Given the description of an element on the screen output the (x, y) to click on. 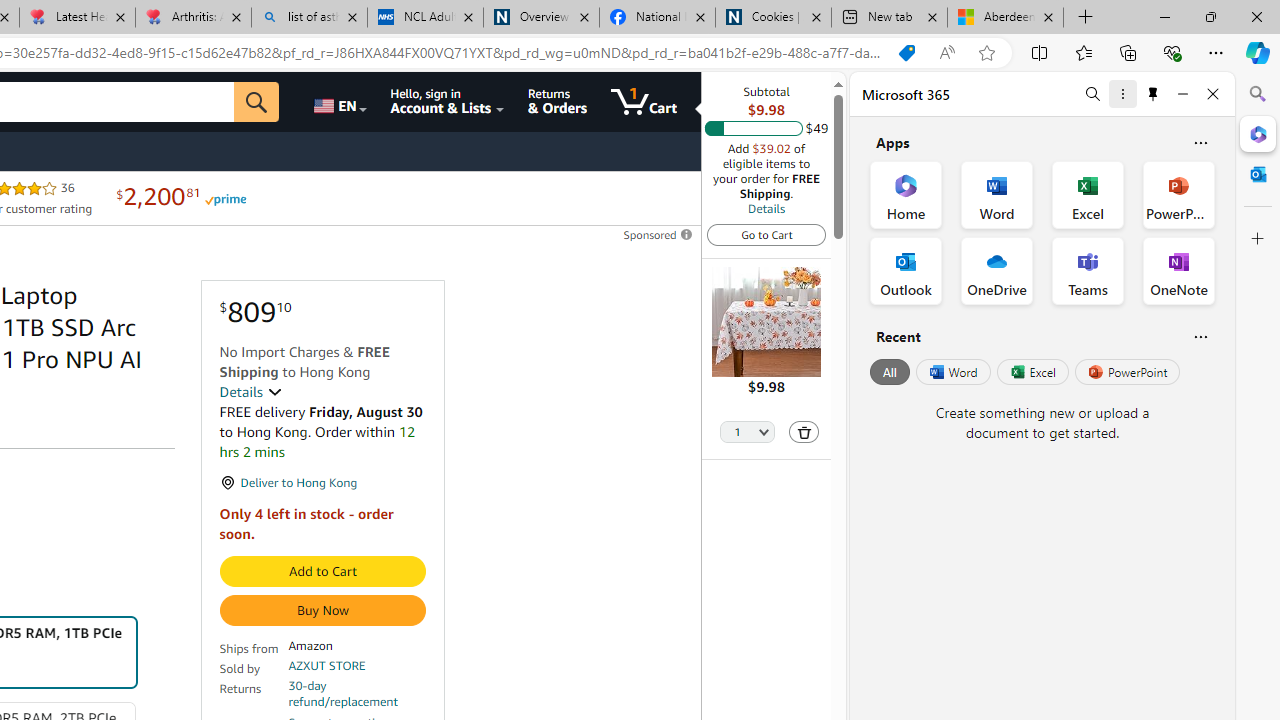
AZXUT STORE (327, 665)
